Given the description of an element on the screen output the (x, y) to click on. 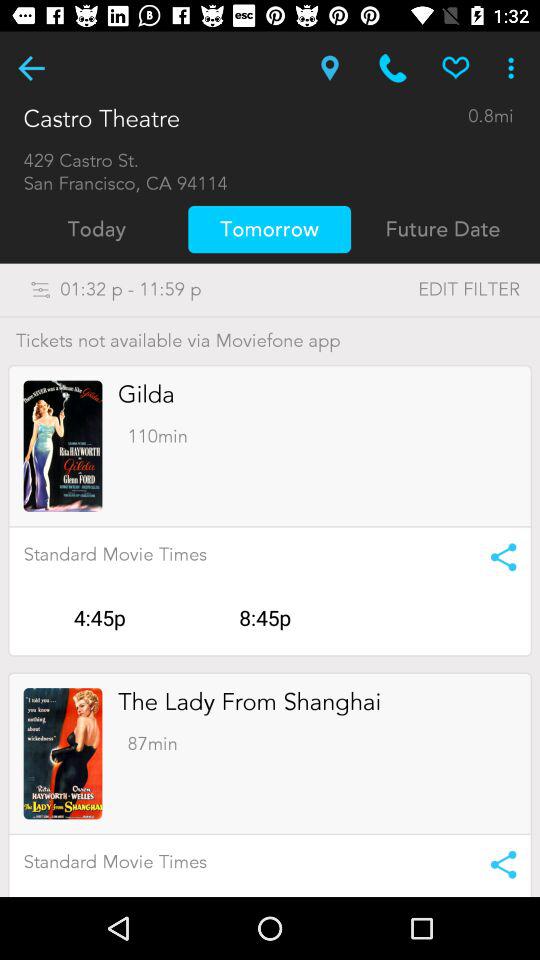
share the movie (496, 557)
